Given the description of an element on the screen output the (x, y) to click on. 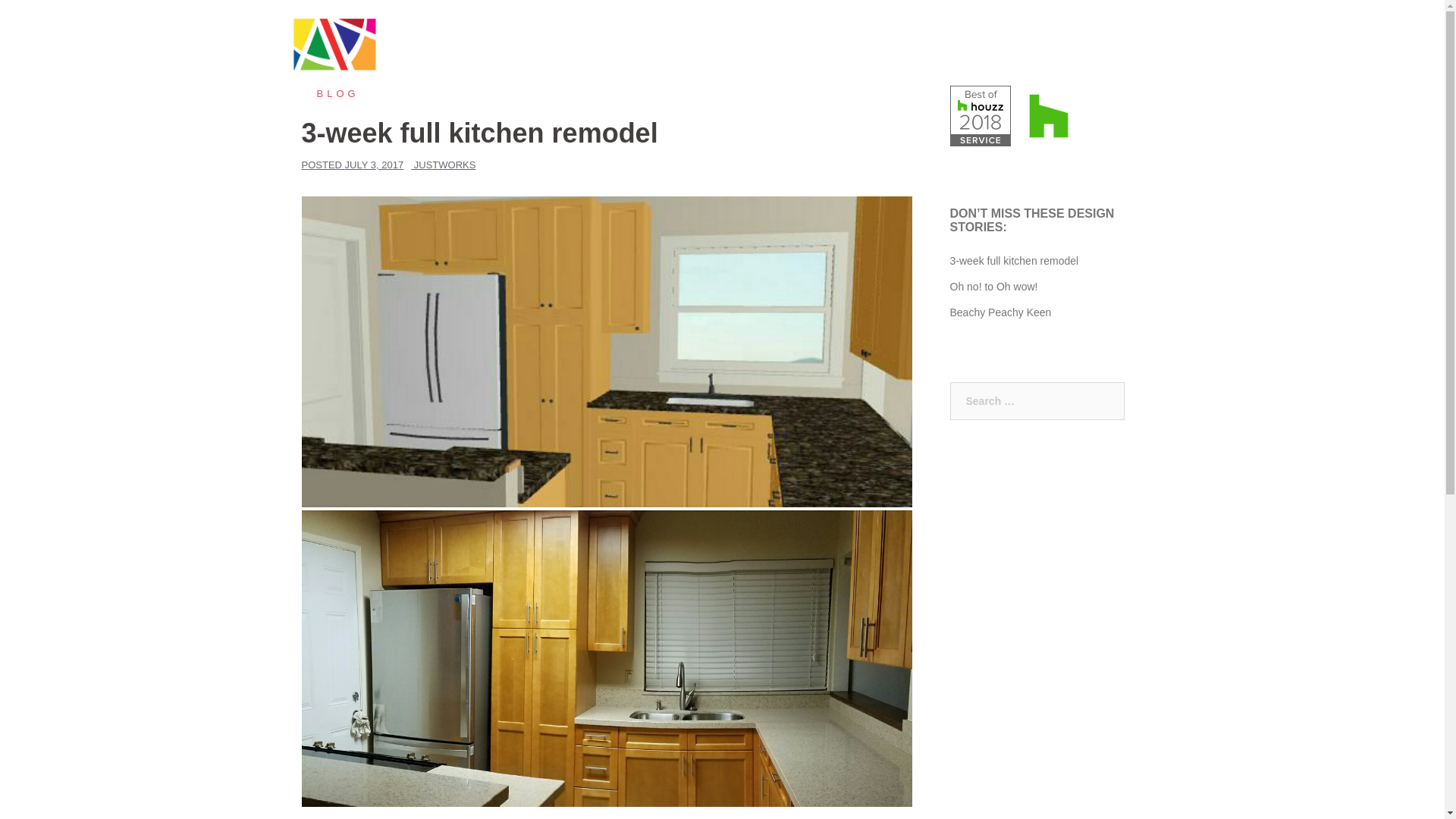
3-week full kitchen remodel (1013, 260)
About Me (894, 56)
Search (47, 18)
APRIL ACQUAVELLA Design (403, 55)
JULY 3, 2017 (374, 164)
Blog (330, 93)
Contact Me (1116, 56)
Beachy Peachy Keen (1000, 312)
Oh no! to Oh wow! (992, 286)
Blog (1057, 56)
Pricing (1009, 56)
JUSTWORKS (444, 164)
BLOG (330, 93)
Gallery (955, 56)
